Given the description of an element on the screen output the (x, y) to click on. 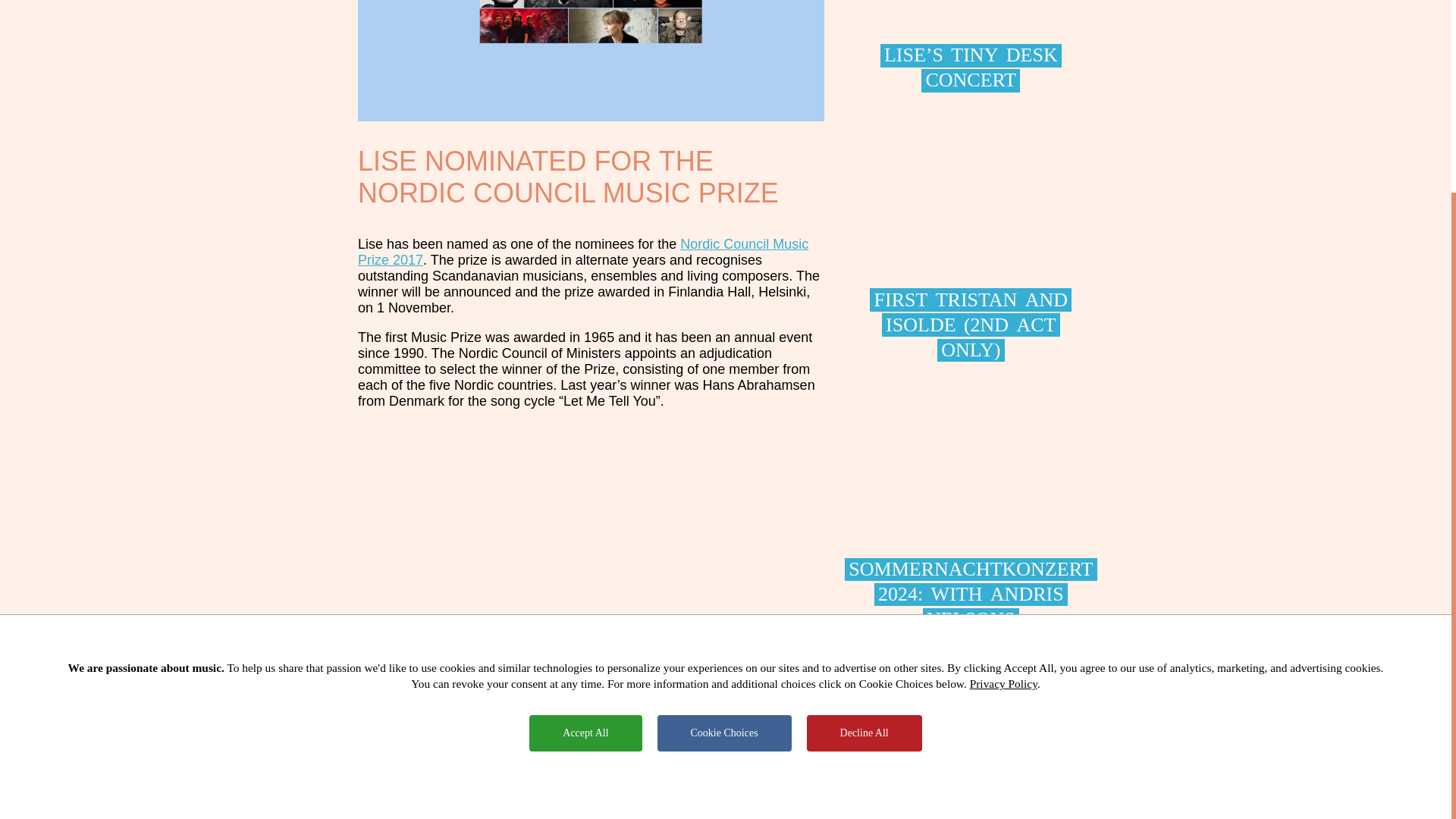
SOMMERNACHTKONZERT2024:WITHANDRISNELSONS (970, 522)
PRIVACY POLICY (618, 750)
SAFE SURF (687, 750)
SIGN UP (917, 750)
COOKIES (781, 750)
TERMS (736, 750)
Decline All (863, 481)
Privacy Policy (1002, 431)
Nordic Council Music Prize 2017 (583, 251)
COOKIE SETTINGS (849, 750)
